Given the description of an element on the screen output the (x, y) to click on. 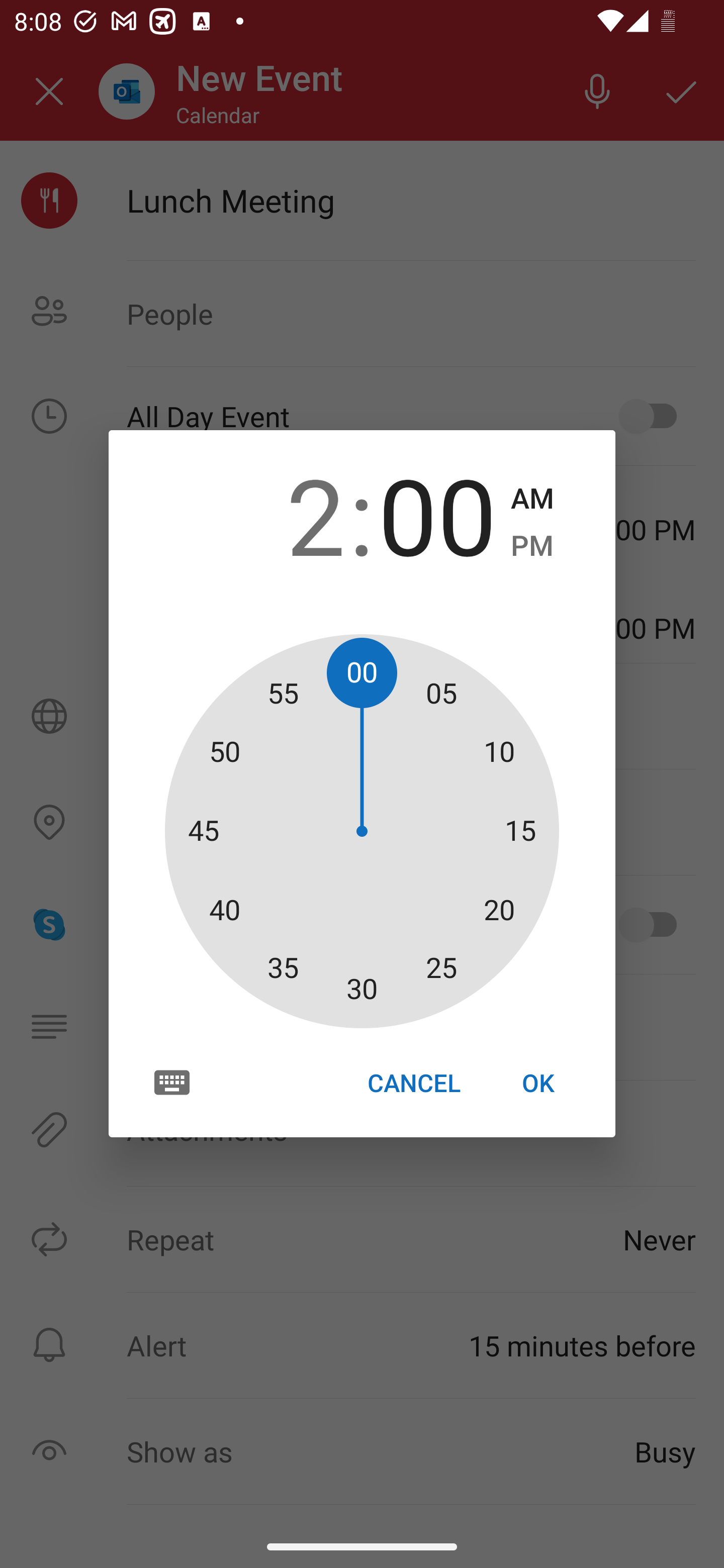
2 (285, 513)
00 (436, 513)
AM (532, 498)
PM (532, 546)
CANCEL (413, 1082)
OK (537, 1082)
Switch to text input mode for the time input. (171, 1081)
